Given the description of an element on the screen output the (x, y) to click on. 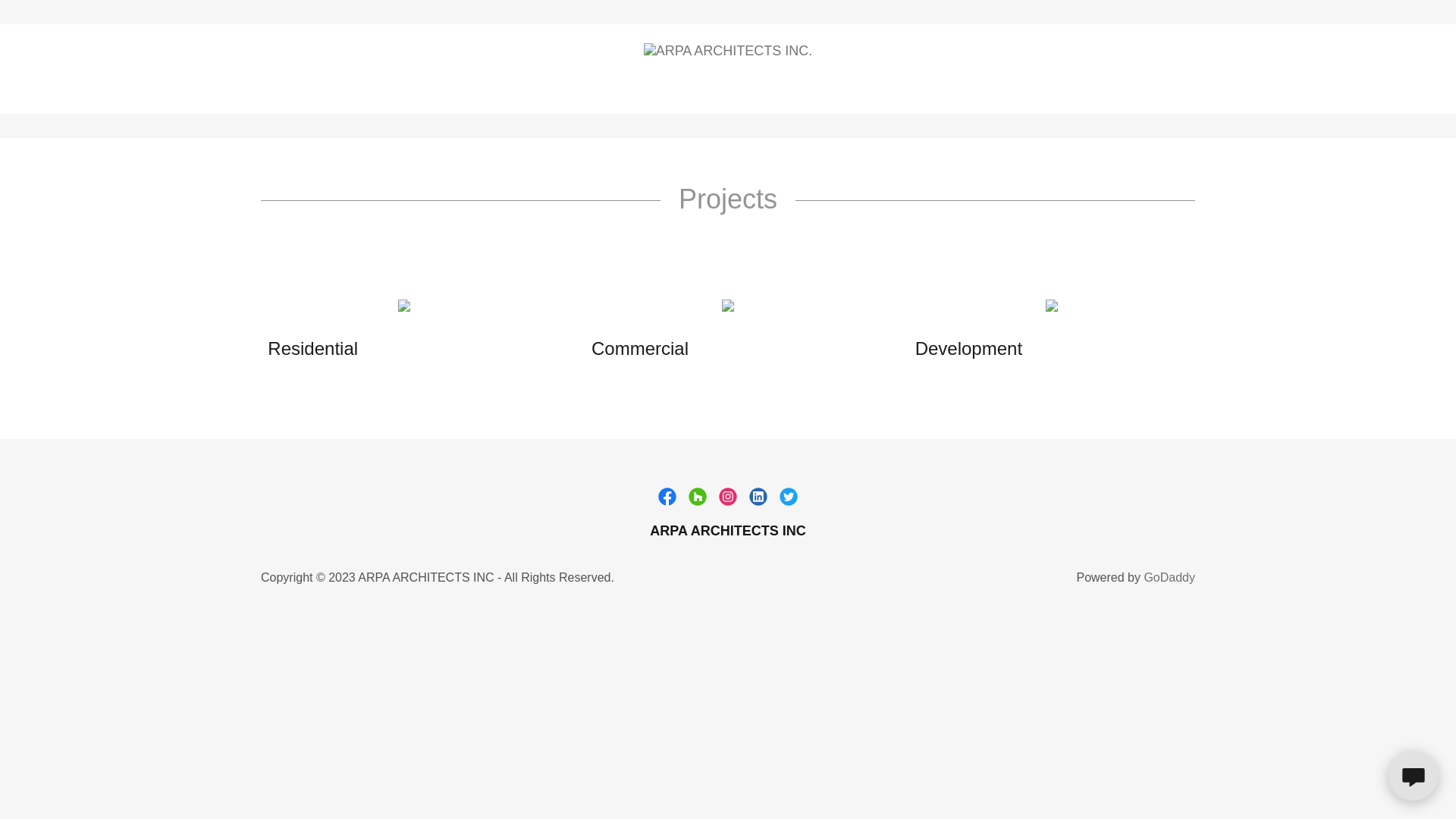
GoDaddy Element type: text (1169, 577)
Development Element type: text (1010, 348)
Residential Element type: text (362, 348)
Commercial Element type: text (686, 348)
ARPA ARCHITECTS INC. Element type: hover (727, 49)
